Given the description of an element on the screen output the (x, y) to click on. 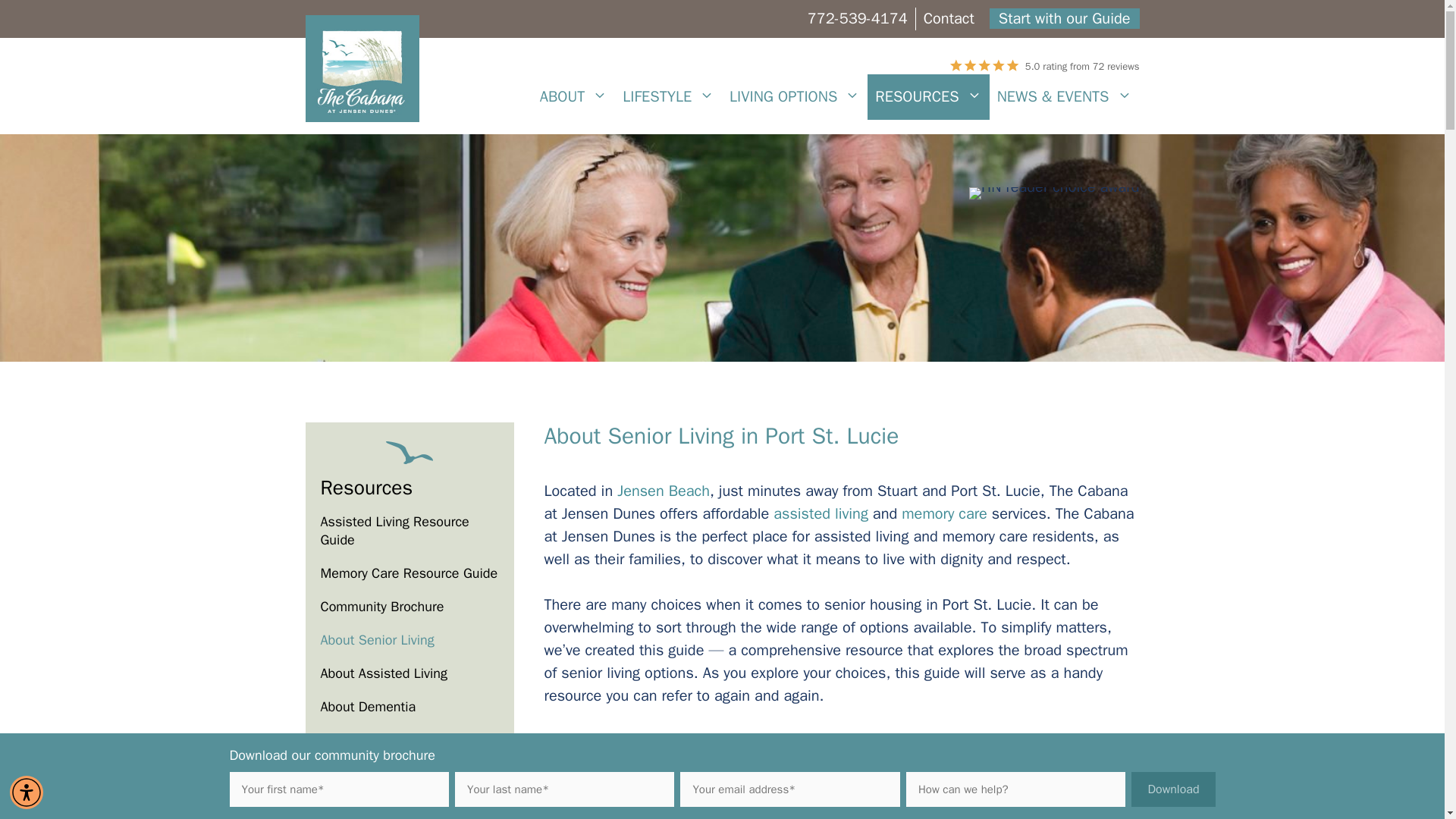
The Cabana at Jensen Dunes (361, 67)
The Cabana at Jensen Dunes (361, 68)
Download (1172, 789)
Start with our Guide (1065, 18)
RESOURCES (927, 96)
LIFESTYLE (668, 96)
assisted living (820, 513)
Accessibility Menu (26, 792)
LIVING OPTIONS (794, 96)
772-539-4174 (857, 18)
Contact (948, 18)
Jensen Beach (663, 490)
ABOUT (573, 96)
